Given the description of an element on the screen output the (x, y) to click on. 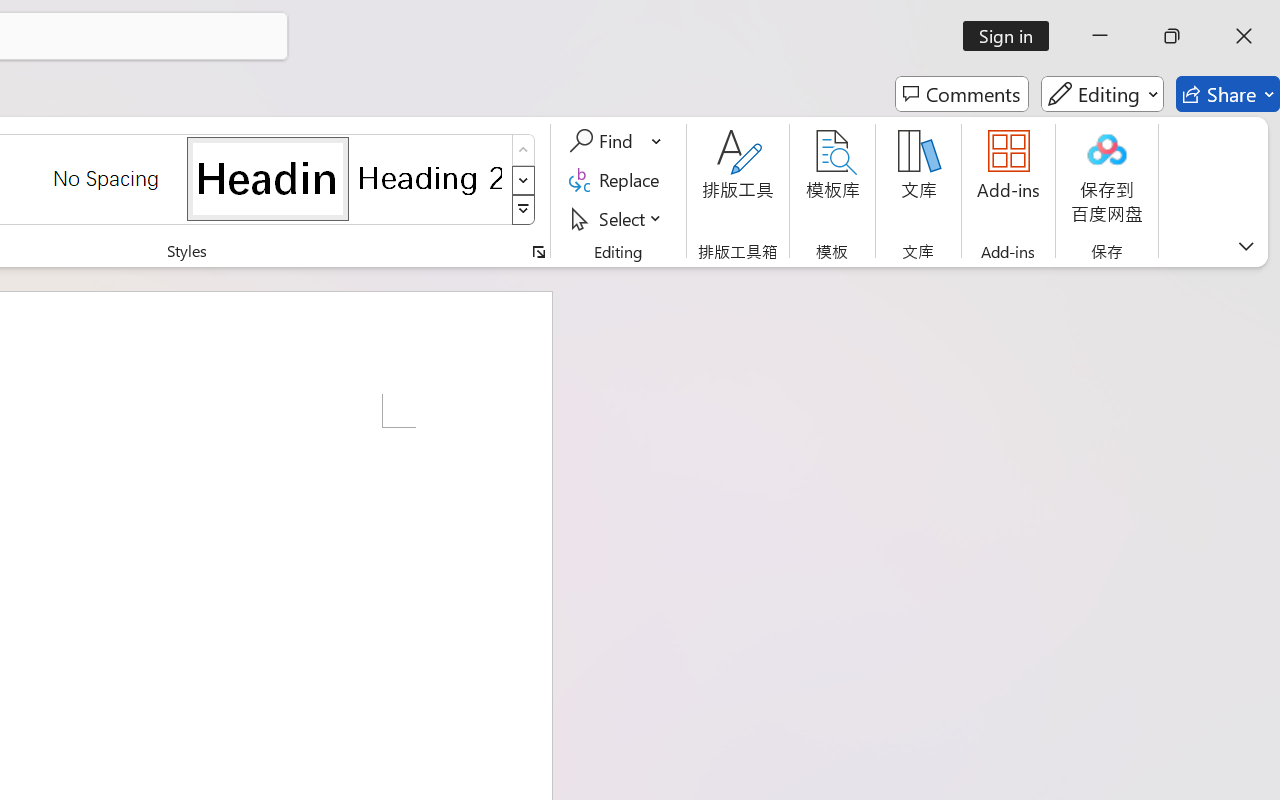
Sign in (1012, 35)
Editing (1101, 94)
